Given the description of an element on the screen output the (x, y) to click on. 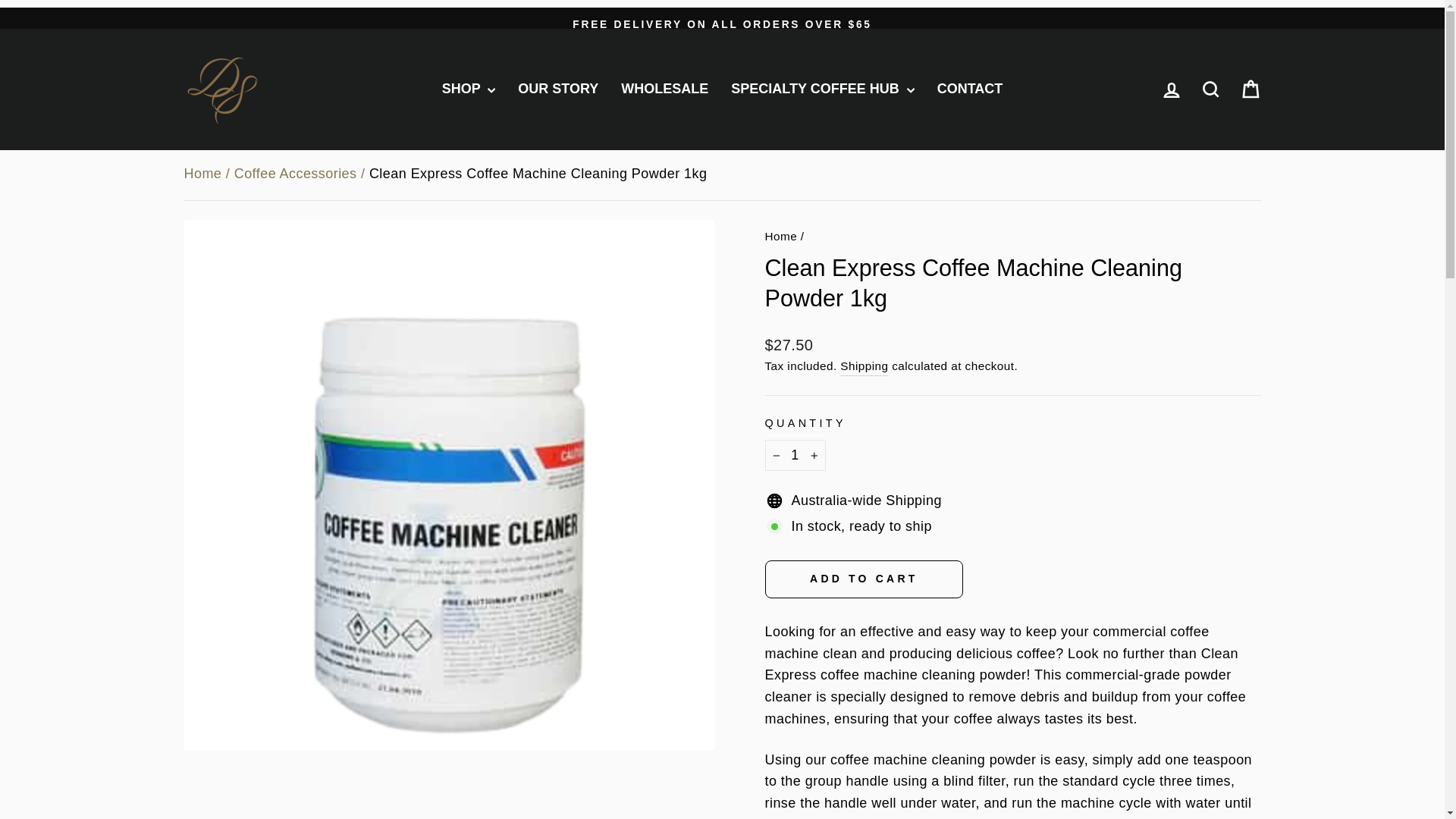
Back to the frontpage (780, 236)
ACCOUNT (1170, 89)
ICON-SEARCH (1210, 88)
1 (794, 454)
